Given the description of an element on the screen output the (x, y) to click on. 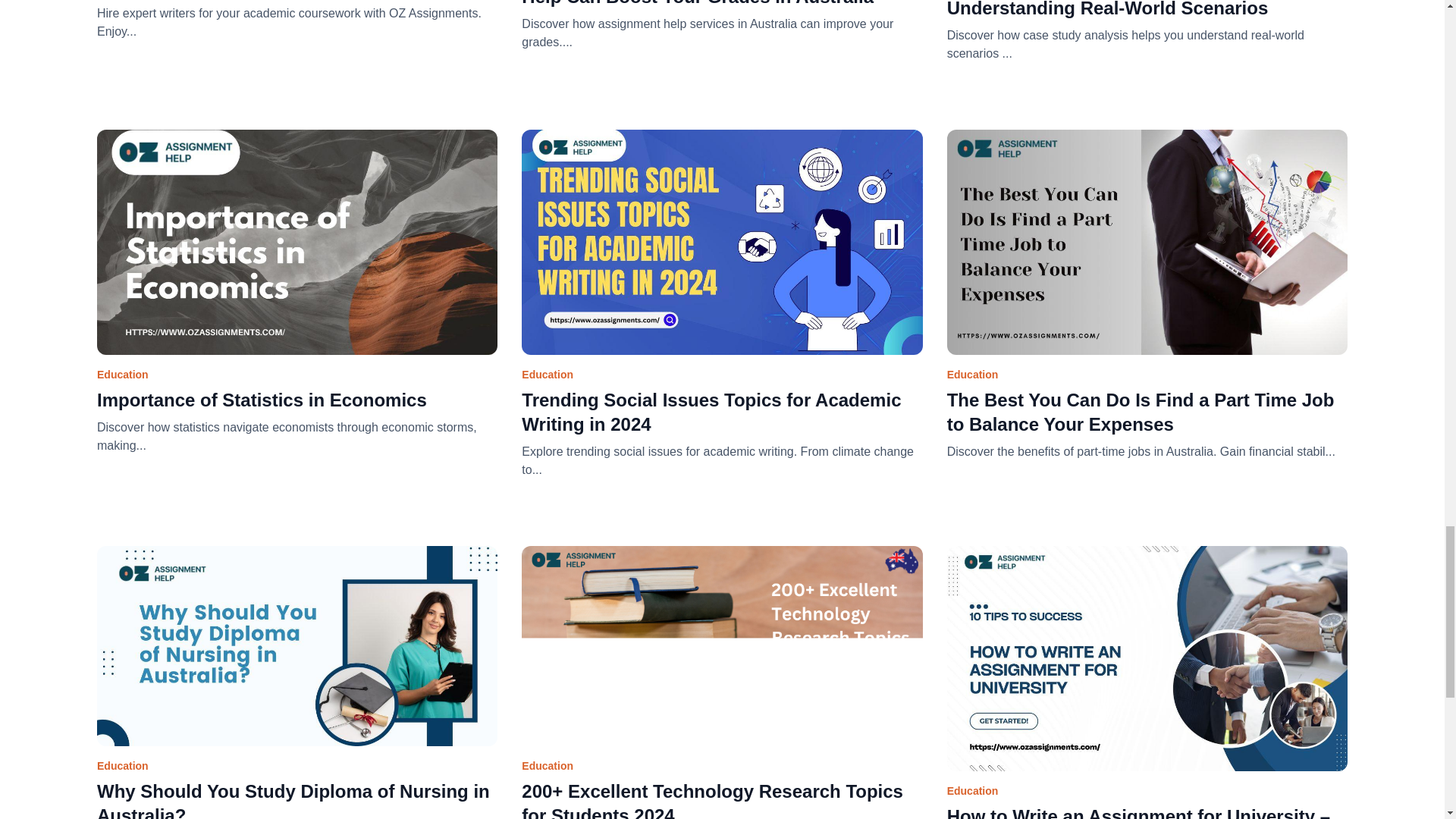
Trending Social Issues Topics for Academic Writing in 2024 (721, 409)
Why Should You Study Diploma of Nursing in Australia? (297, 796)
Importance of Statistics in Economics (297, 397)
Education (1147, 255)
Education (721, 255)
Education (721, 659)
Education (297, 659)
